Given the description of an element on the screen output the (x, y) to click on. 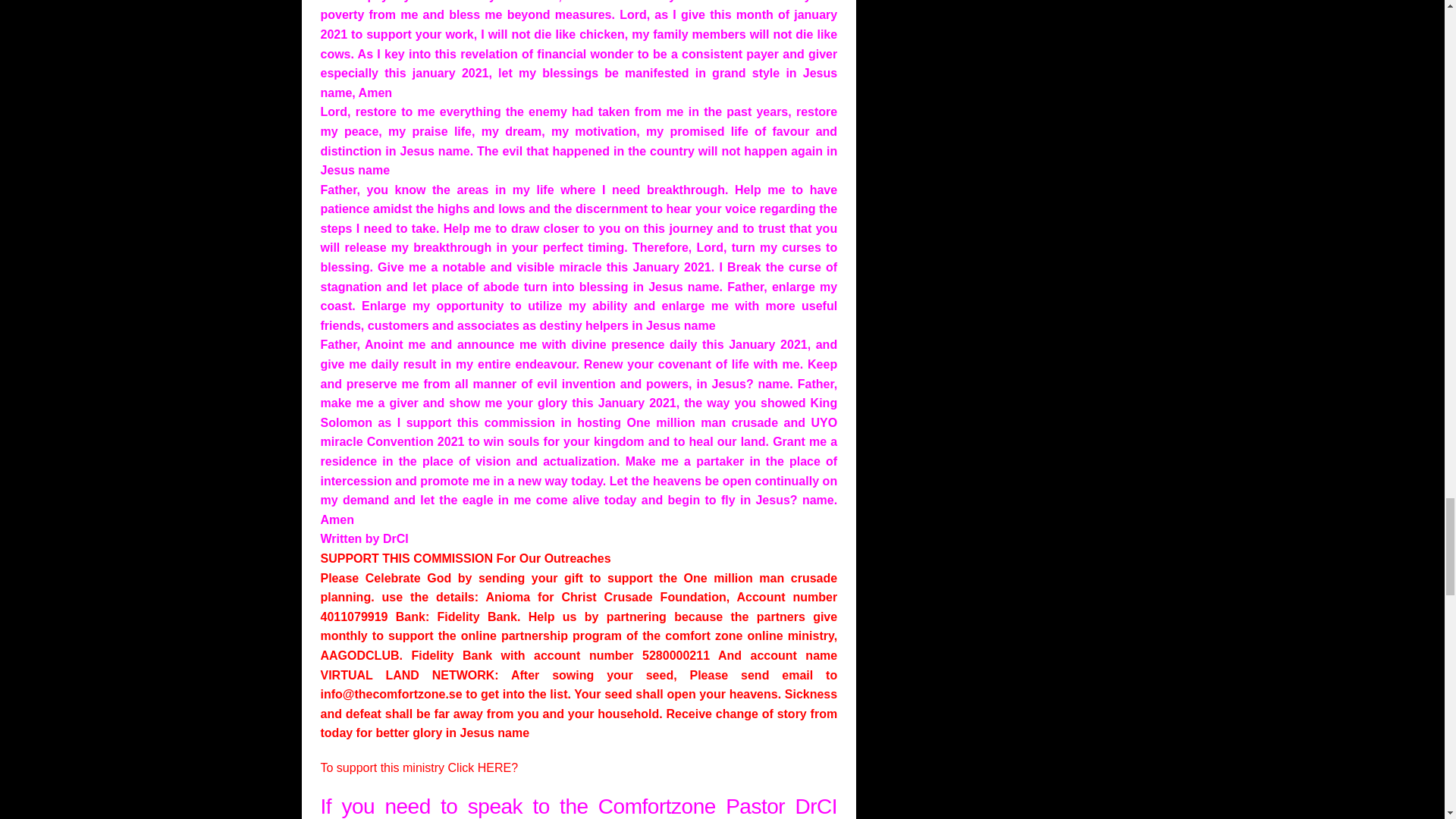
Click HERE? (483, 767)
